Given the description of an element on the screen output the (x, y) to click on. 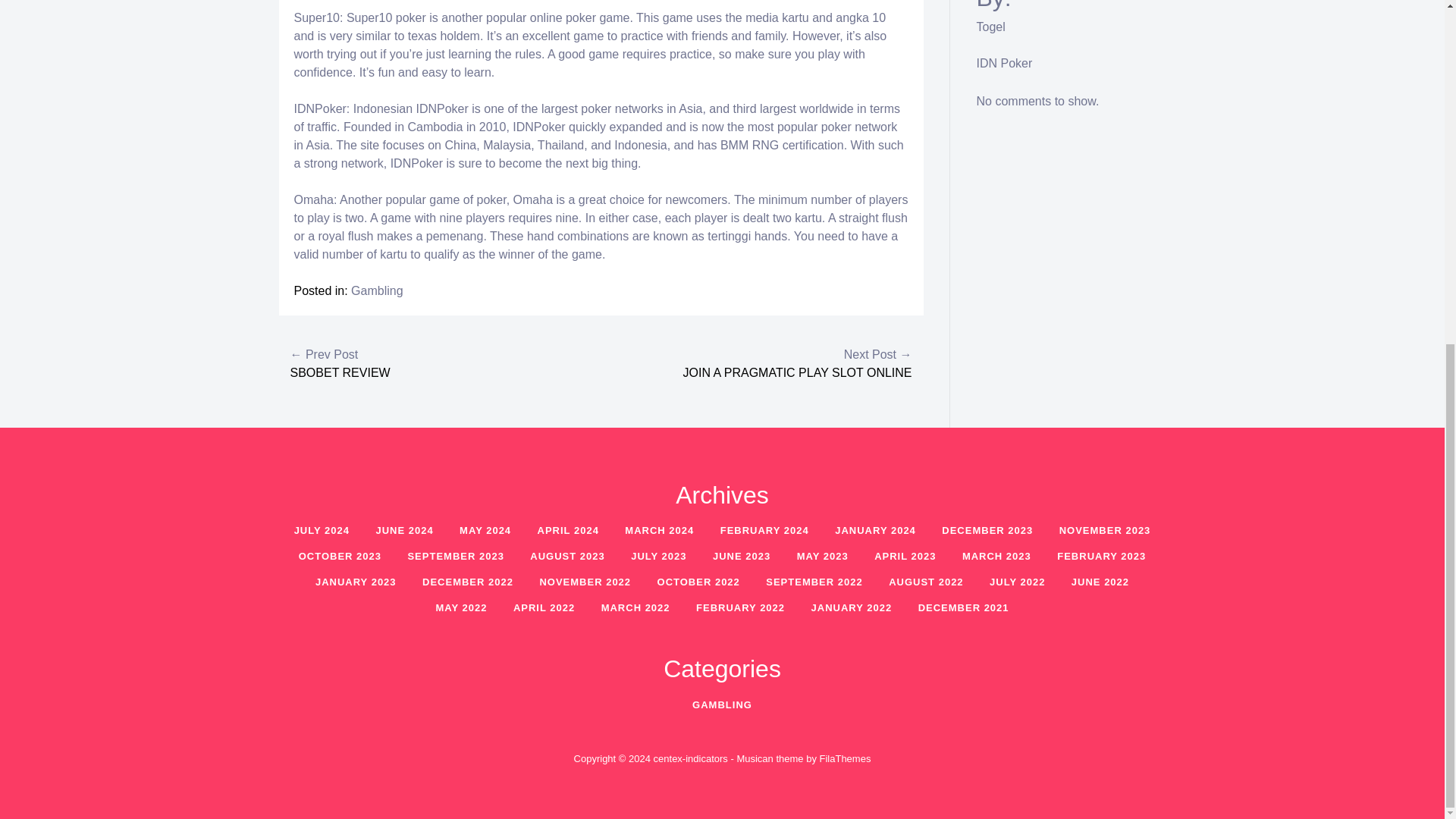
OCTOBER 2023 (339, 555)
Togel (991, 26)
SEPTEMBER 2022 (813, 582)
NOVEMBER 2023 (1104, 530)
DECEMBER 2022 (467, 582)
MARCH 2024 (658, 530)
NOVEMBER 2022 (584, 582)
JULY 2024 (321, 530)
OCTOBER 2022 (698, 582)
FEBRUARY 2023 (1101, 555)
JUNE 2024 (404, 530)
AUGUST 2023 (566, 555)
SEPTEMBER 2023 (455, 555)
JANUARY 2024 (875, 530)
JANUARY 2023 (355, 582)
